Given the description of an element on the screen output the (x, y) to click on. 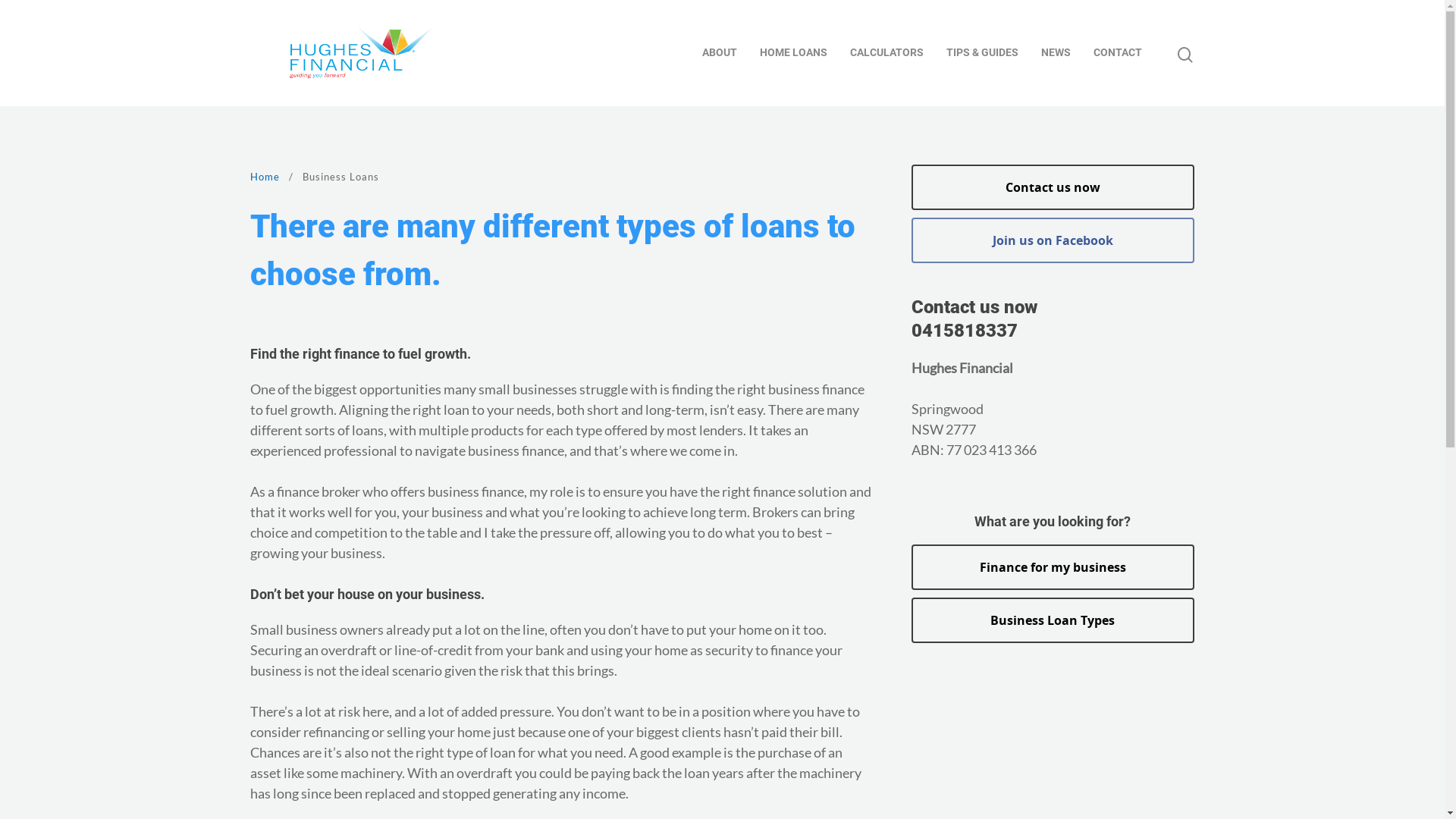
Contact us now Element type: text (1052, 187)
Finance for my business Element type: text (1052, 566)
Business Loan Types Element type: text (1052, 620)
TIPS & GUIDES Element type: text (982, 52)
ABOUT Element type: text (719, 52)
0415818337 Element type: text (964, 330)
HOME LOANS Element type: text (793, 52)
Join us on Facebook Element type: text (1052, 240)
CALCULATORS Element type: text (886, 52)
CONTACT Element type: text (1117, 52)
NEWS Element type: text (1055, 52)
Home Element type: text (264, 176)
